Given the description of an element on the screen output the (x, y) to click on. 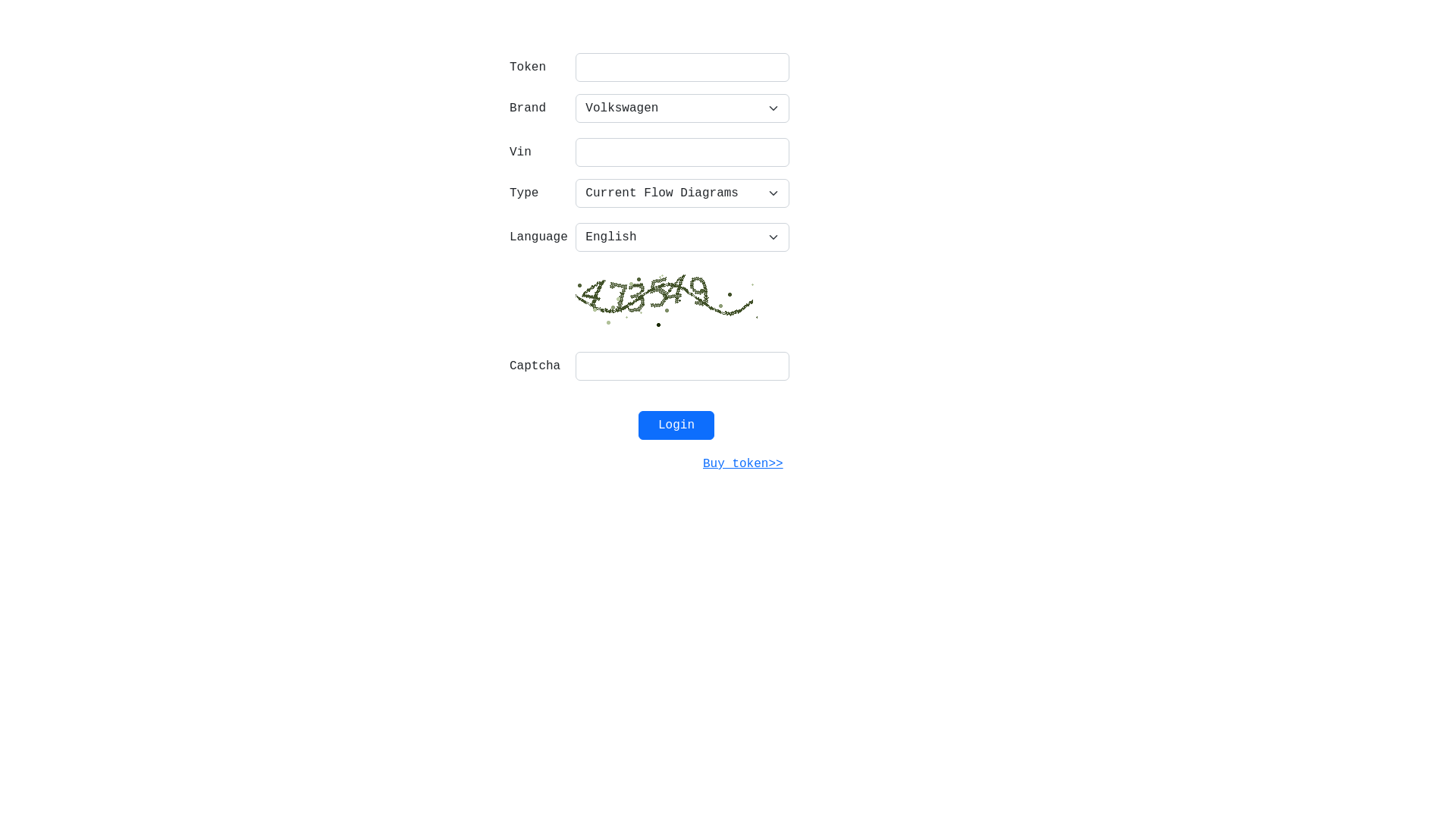
Login Element type: text (676, 425)
Buy token>> Element type: text (742, 463)
